Given the description of an element on the screen output the (x, y) to click on. 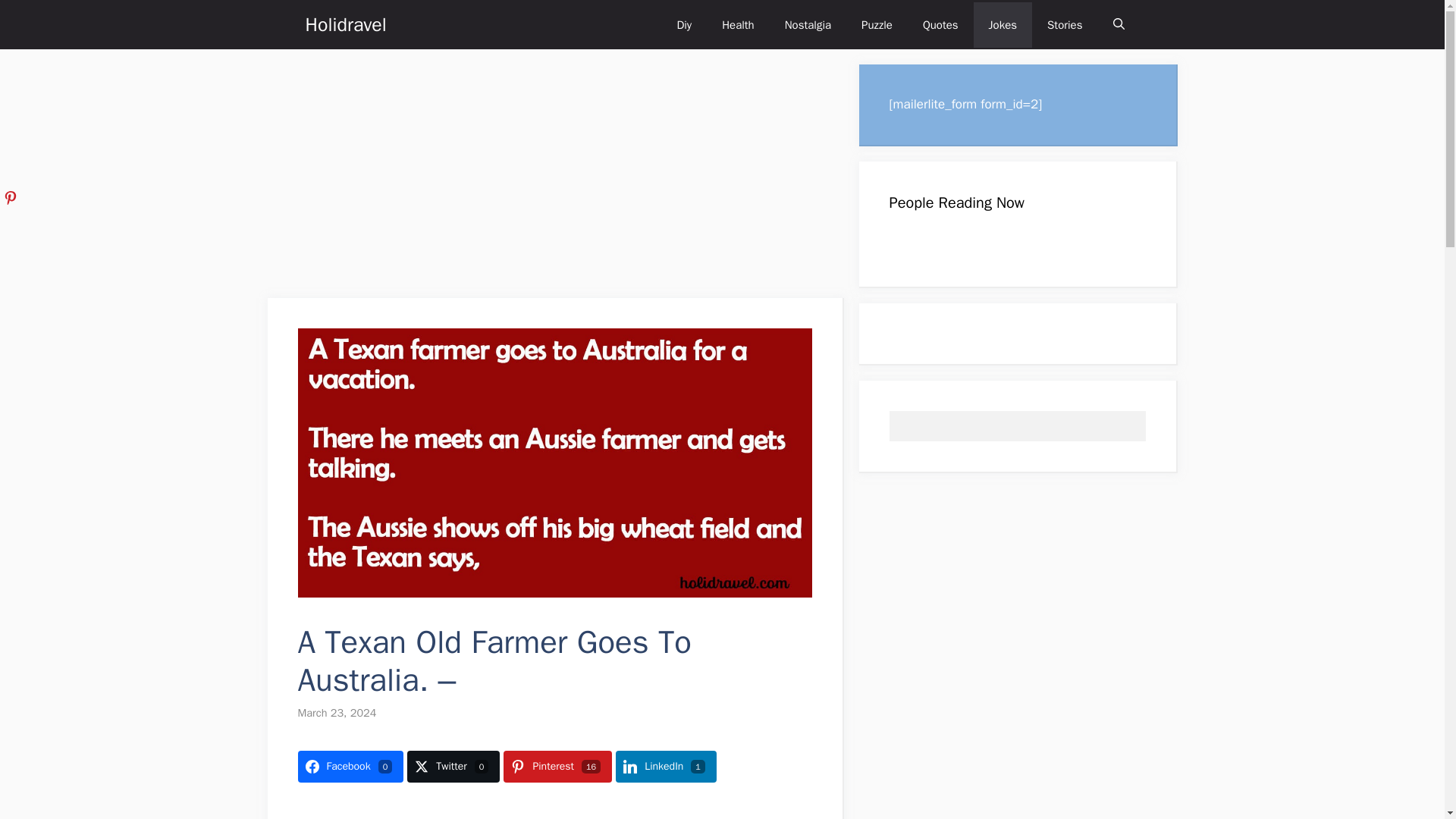
LinkedIn1 (665, 766)
Twitter0 (453, 766)
Share on LinkedIn (665, 766)
Share on Twitter (453, 766)
Stories (1064, 23)
Quotes (940, 23)
Pinterest16 (557, 766)
Diy (683, 23)
Holidravel (344, 24)
Facebook0 (350, 766)
